Given the description of an element on the screen output the (x, y) to click on. 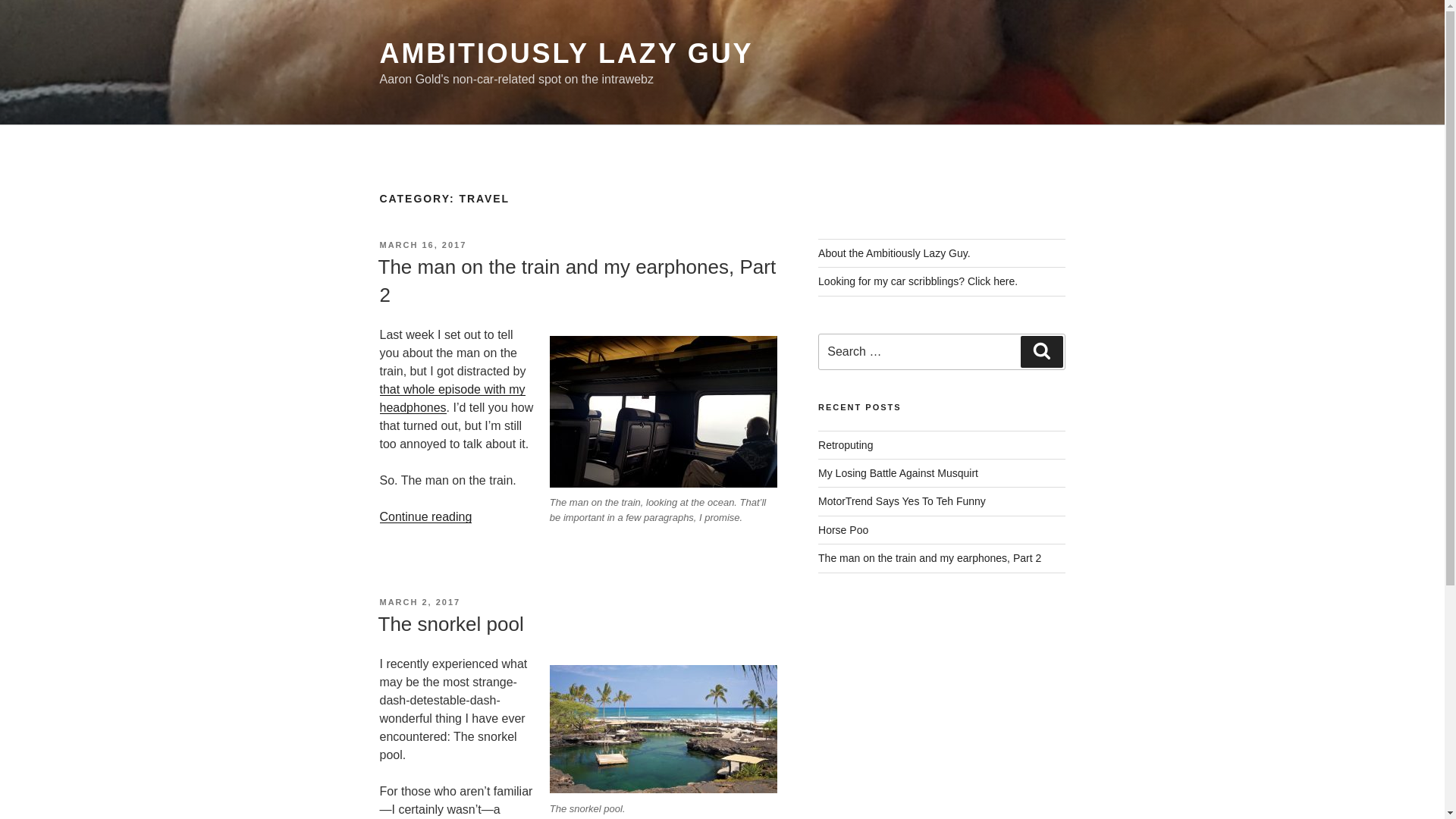
The man on the train and my earphones, Part 2 (576, 280)
About the Ambitiously Lazy Guy. (894, 253)
MARCH 16, 2017 (421, 244)
Looking for my car scribblings? Click here. (917, 281)
Horse Poo (842, 530)
The snorkel pool (449, 623)
Search (1041, 351)
MotorTrend Says Yes To Teh Funny (901, 500)
My Losing Battle Against Musquirt (898, 472)
MARCH 2, 2017 (419, 601)
The man on the train and my earphones, Part 2 (929, 558)
Retroputing (845, 444)
that whole episode with my headphones (451, 398)
AMBITIOUSLY LAZY GUY (565, 52)
